Given the description of an element on the screen output the (x, y) to click on. 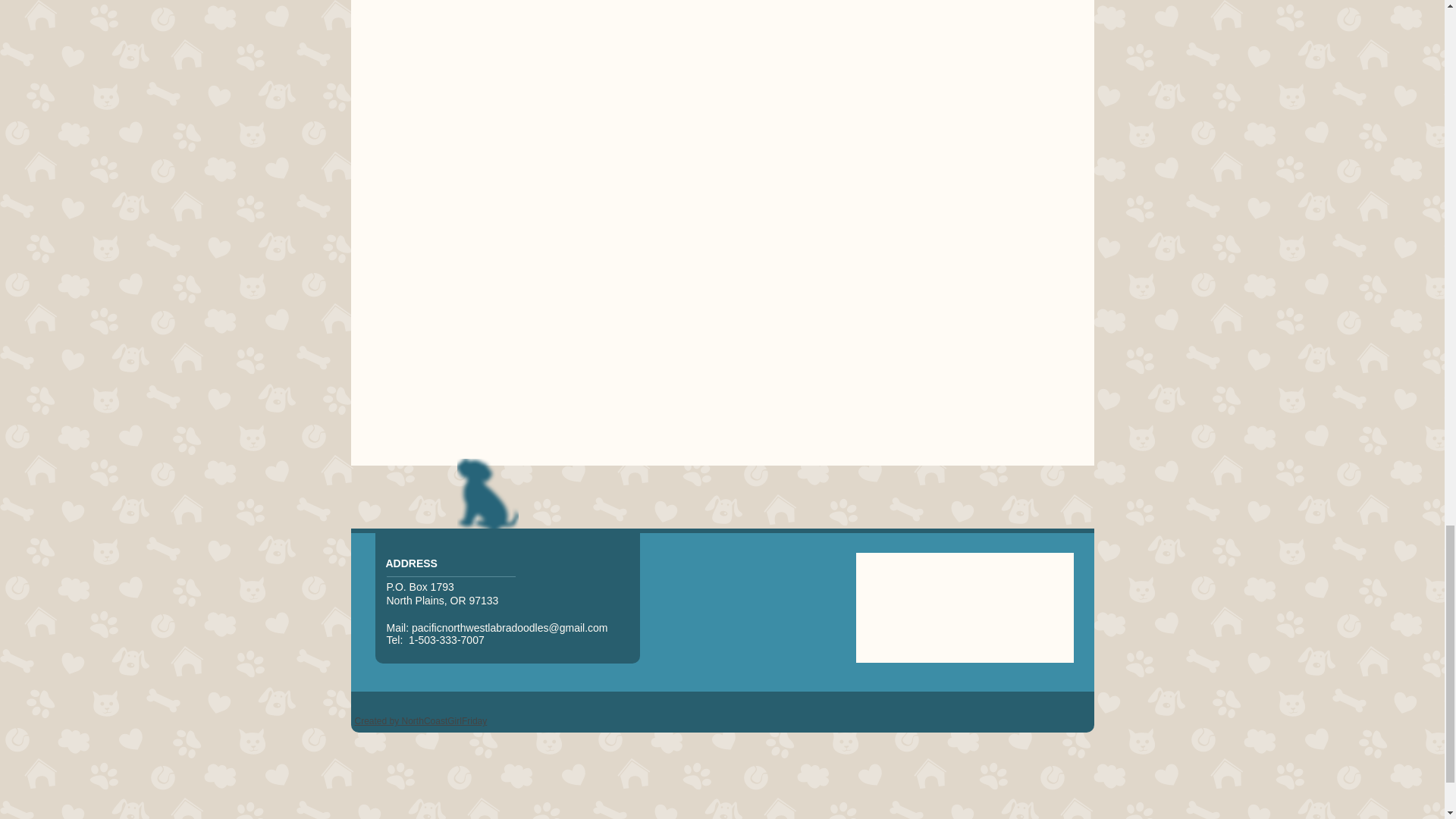
Google Maps (965, 607)
abradoodles (518, 627)
Created by NorthCoastGirlFriday (421, 720)
